Given the description of an element on the screen output the (x, y) to click on. 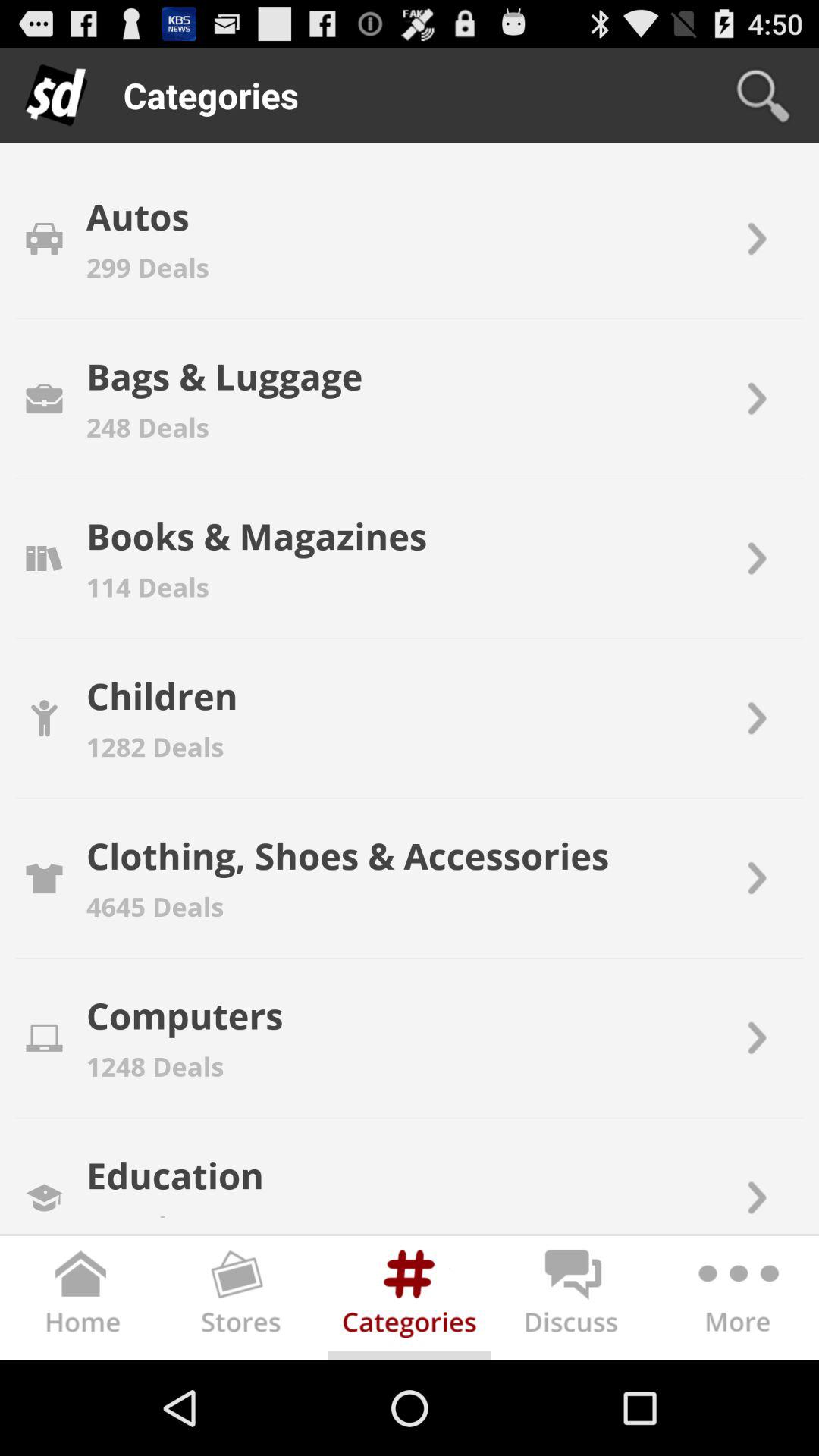
open the 3 deals app (132, 1210)
